Given the description of an element on the screen output the (x, y) to click on. 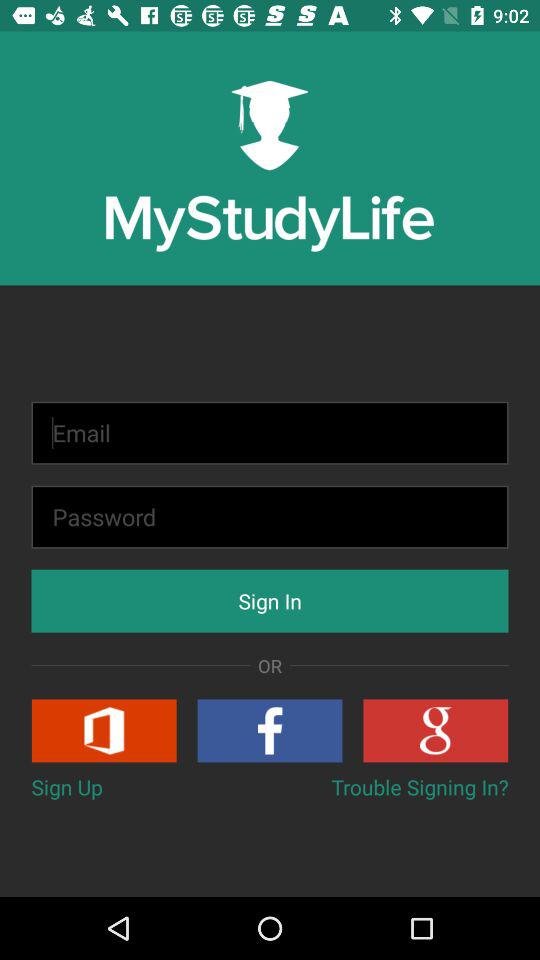
jump until the sign in button (269, 600)
